Given the description of an element on the screen output the (x, y) to click on. 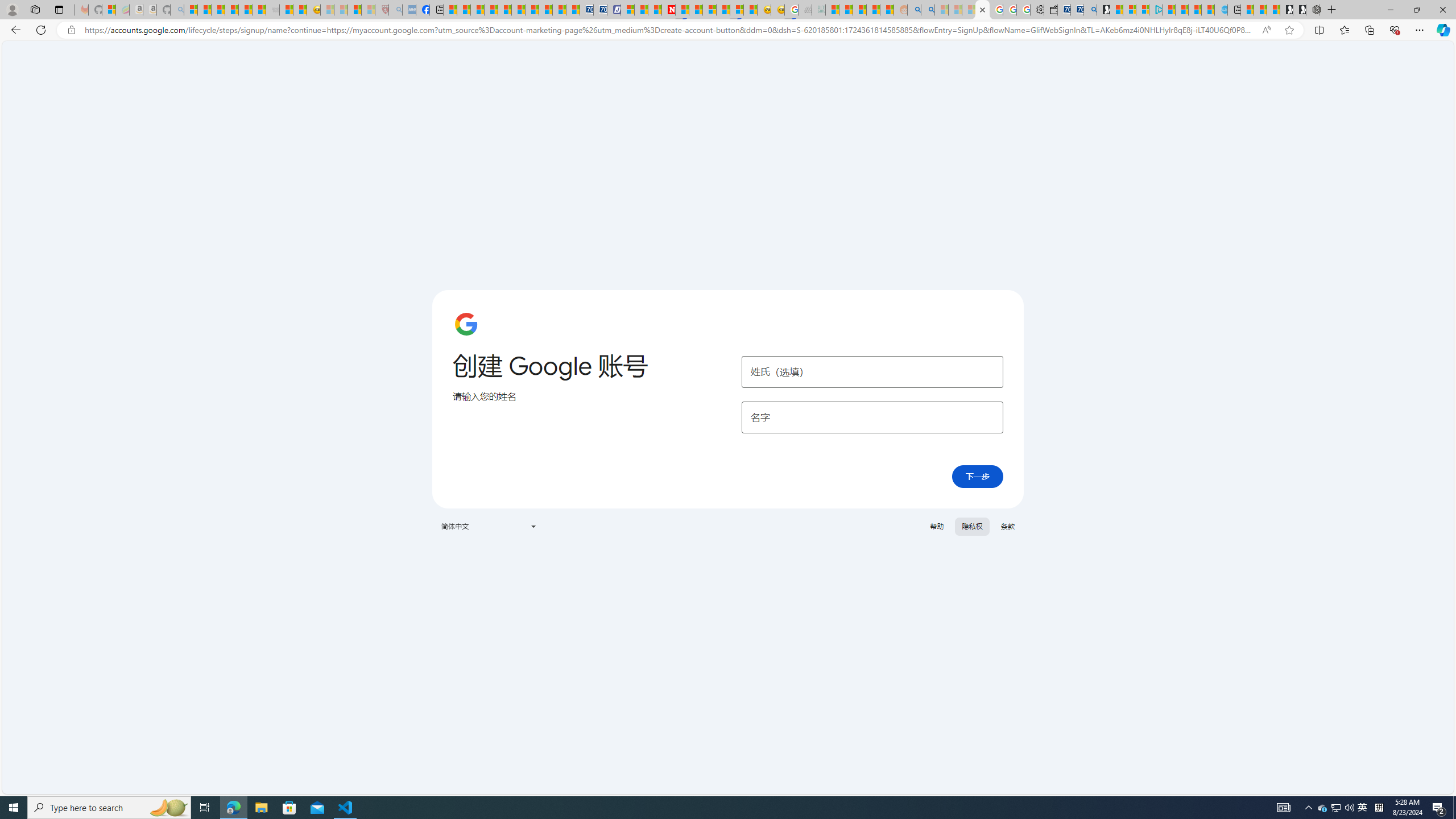
Newsweek - News, Analysis, Politics, Business, Technology (667, 9)
